Given the description of an element on the screen output the (x, y) to click on. 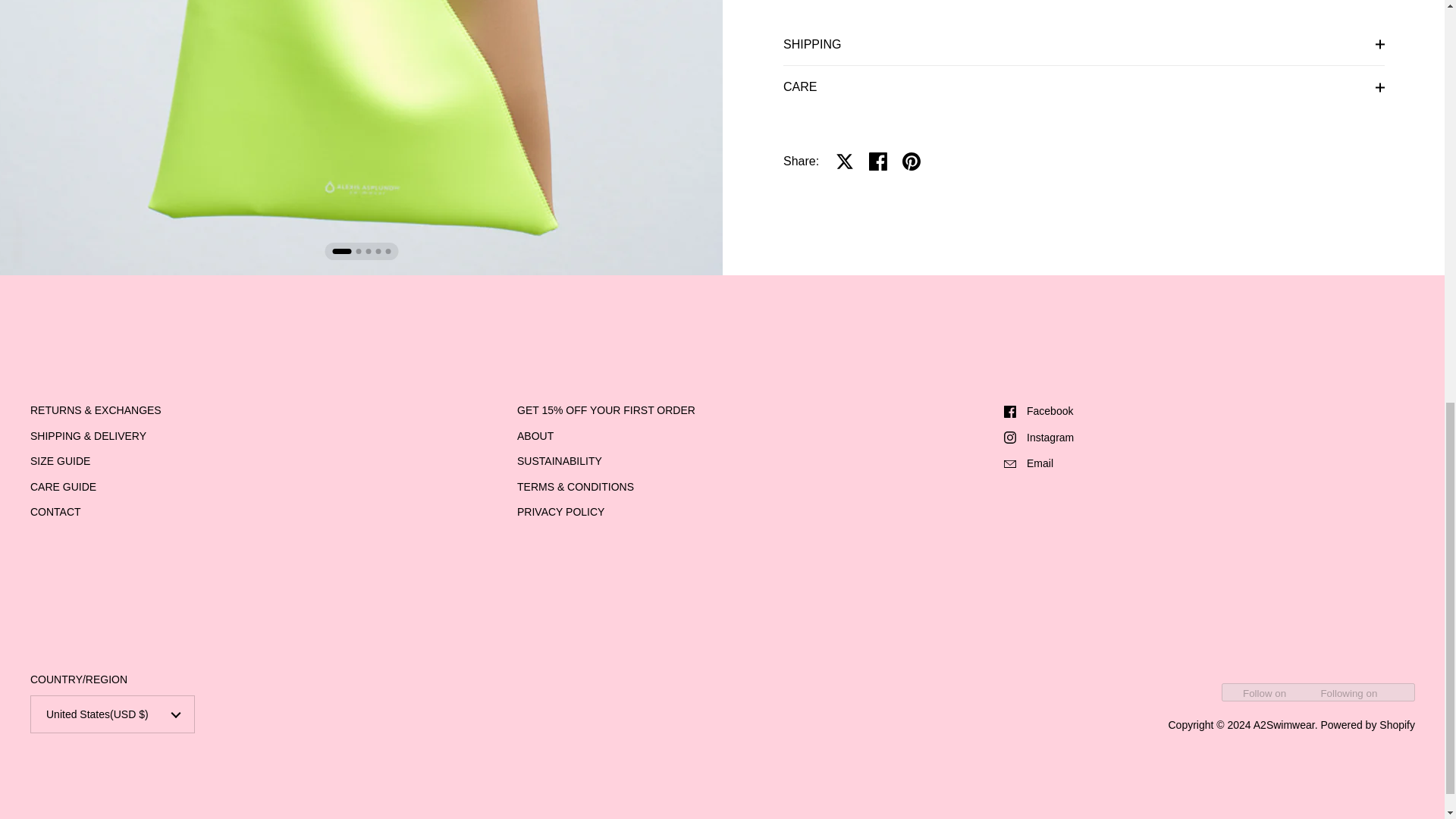
Share on X (844, 161)
Facebook (1209, 410)
Share on facebook (878, 161)
PRIVACY POLICY (560, 513)
SIZE GUIDE (60, 462)
Share on pinterest (911, 161)
Email (1209, 463)
Share on X (844, 161)
Share on pinterest (911, 161)
SUSTAINABILITY (559, 462)
Share on facebook (878, 161)
ABOUT (534, 436)
Instagram (1209, 437)
CONTACT (55, 513)
CARE GUIDE (63, 487)
